Given the description of an element on the screen output the (x, y) to click on. 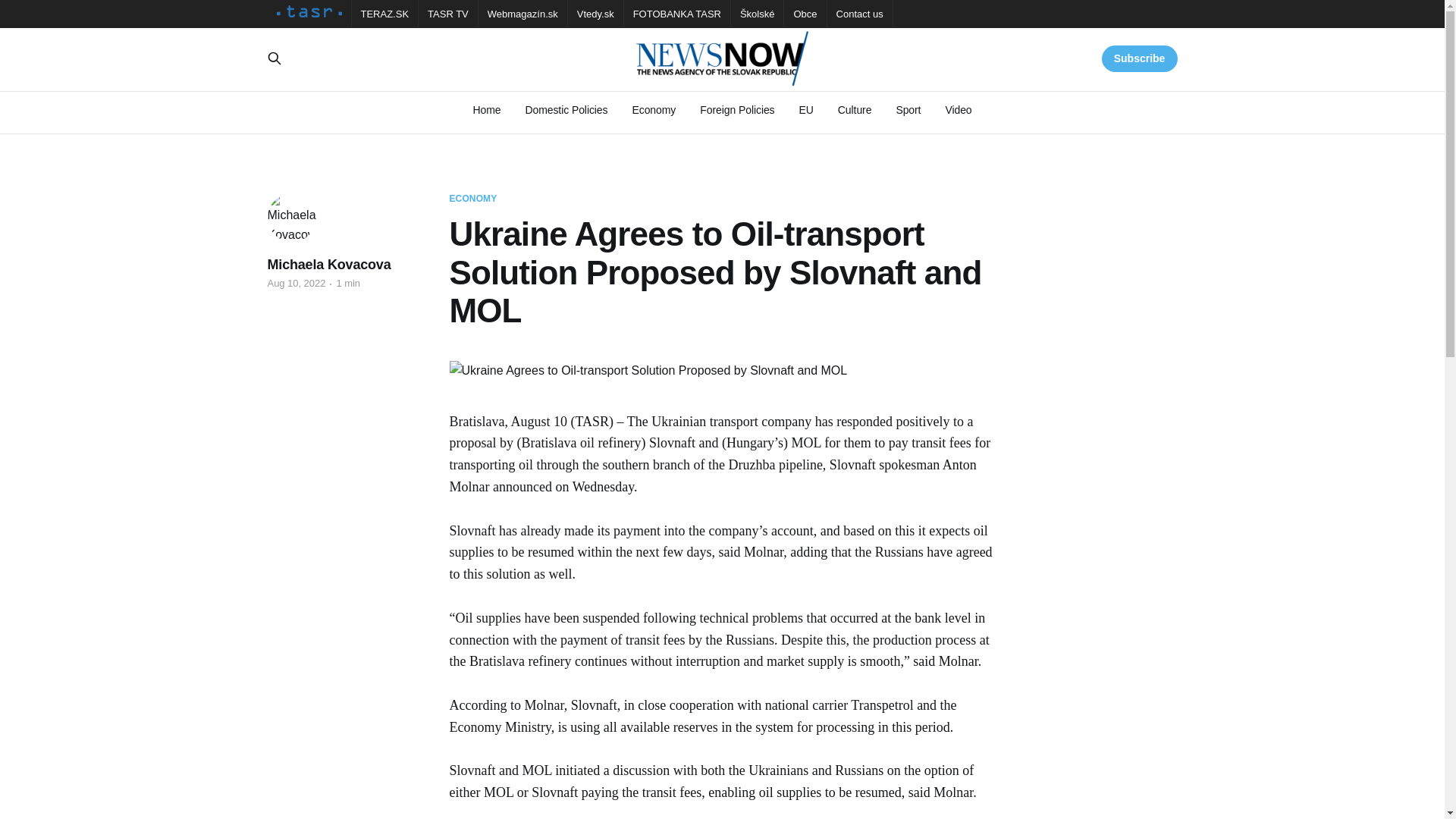
Home (485, 110)
Subscribe (1139, 58)
EU (806, 110)
ECONOMY (472, 198)
Foreign Policies (737, 110)
Michaela Kovacova (328, 264)
Video (957, 110)
TERAZ.SK (385, 13)
Contact us (859, 13)
FOTOBANKA TASR (676, 13)
TASR TV (448, 13)
Domestic Policies (565, 110)
Vtedy.sk (595, 13)
Sport (907, 110)
Culture (855, 110)
